Given the description of an element on the screen output the (x, y) to click on. 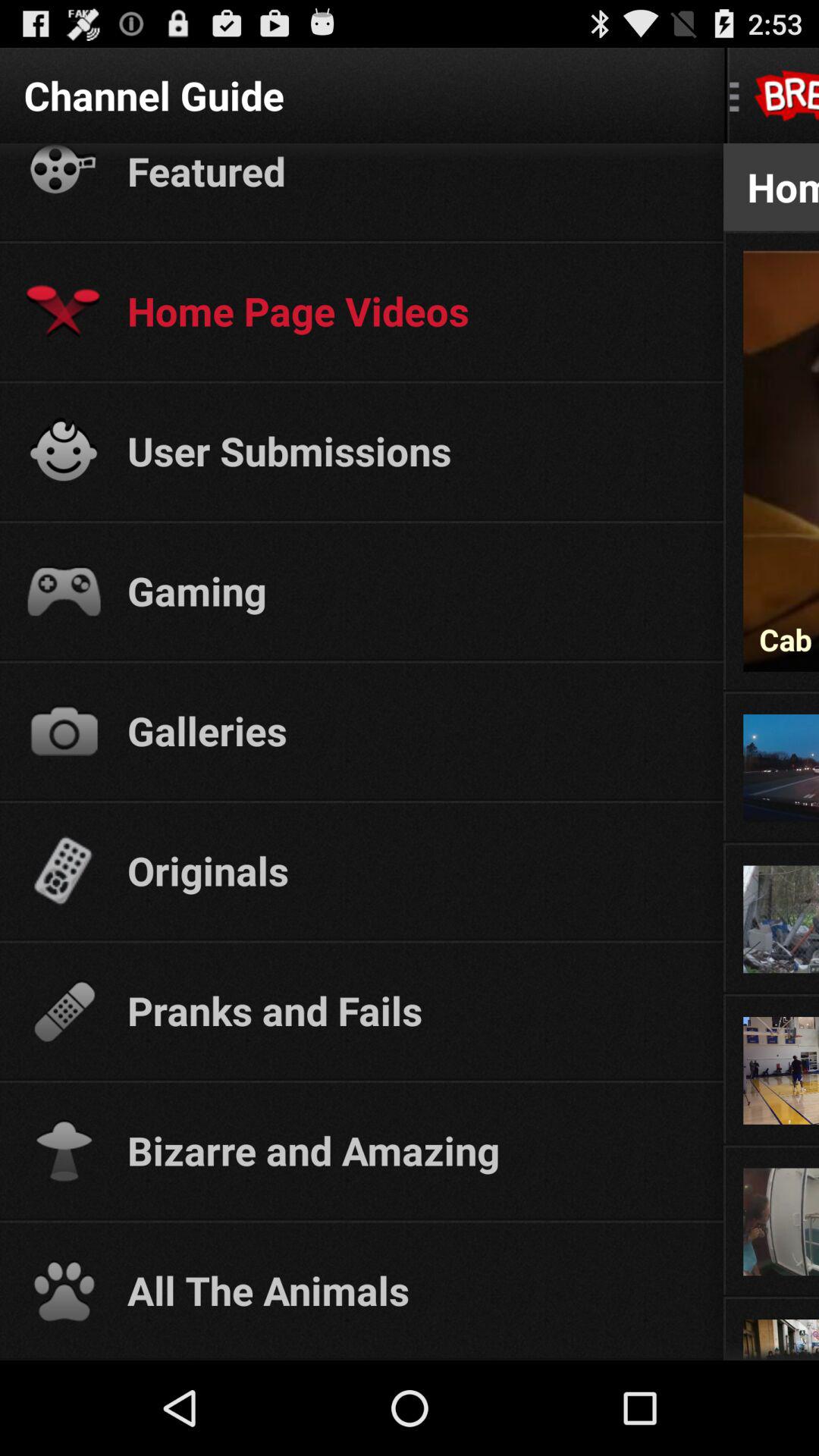
press cab driver claims (781, 639)
